Given the description of an element on the screen output the (x, y) to click on. 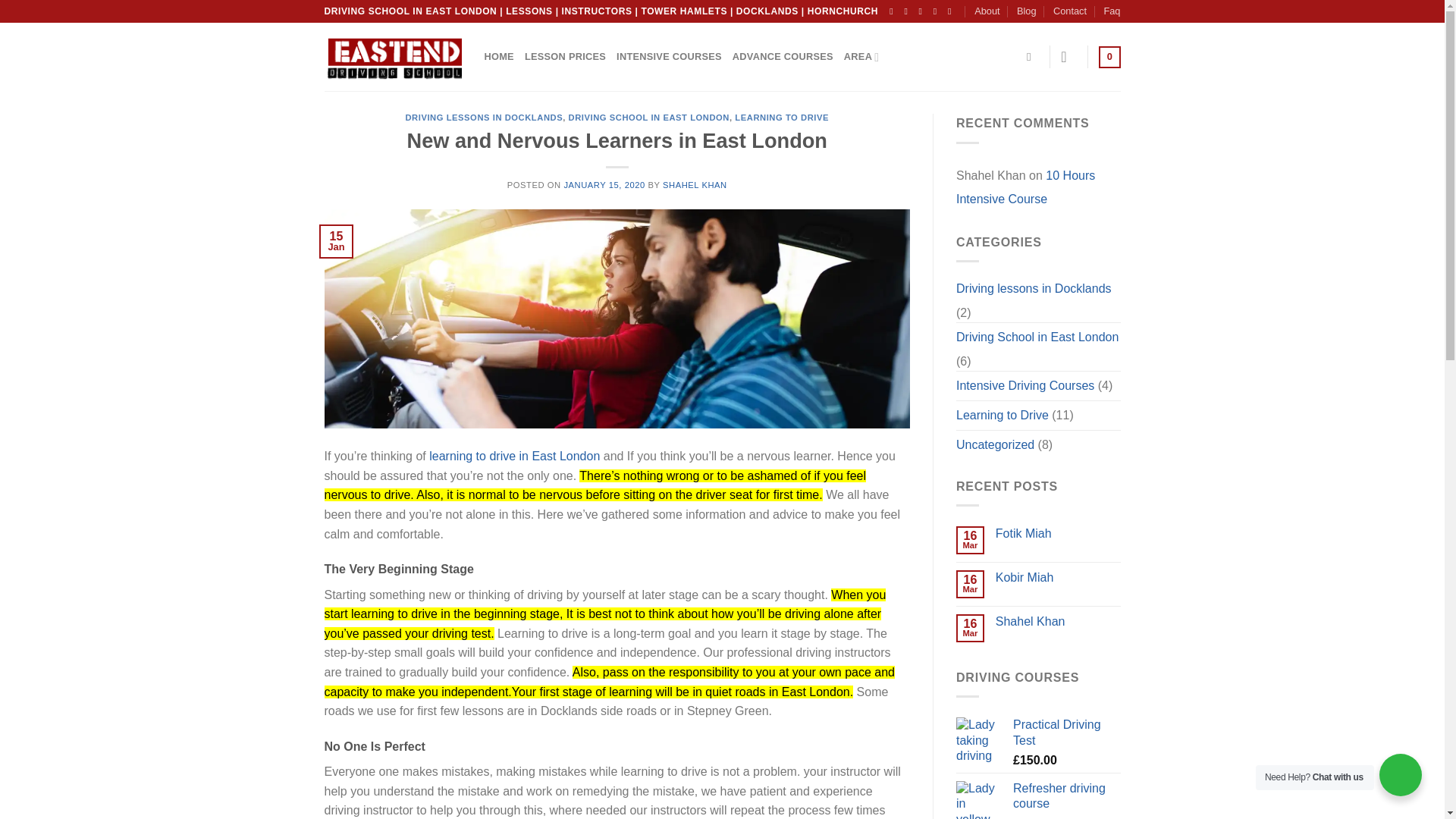
learning to drive in East London (512, 455)
DRIVING SCHOOL IN EAST LONDON (649, 117)
ADVANCE COURSES (782, 56)
LEARNING TO DRIVE (781, 117)
HOME (498, 56)
AREA (861, 56)
LESSON PRICES (564, 56)
JANUARY 15, 2020 (604, 184)
DRIVING LESSONS IN DOCKLANDS (483, 117)
About (986, 11)
INTENSIVE COURSES (668, 56)
Contact (1069, 11)
SHAHEL KHAN (694, 184)
